Given the description of an element on the screen output the (x, y) to click on. 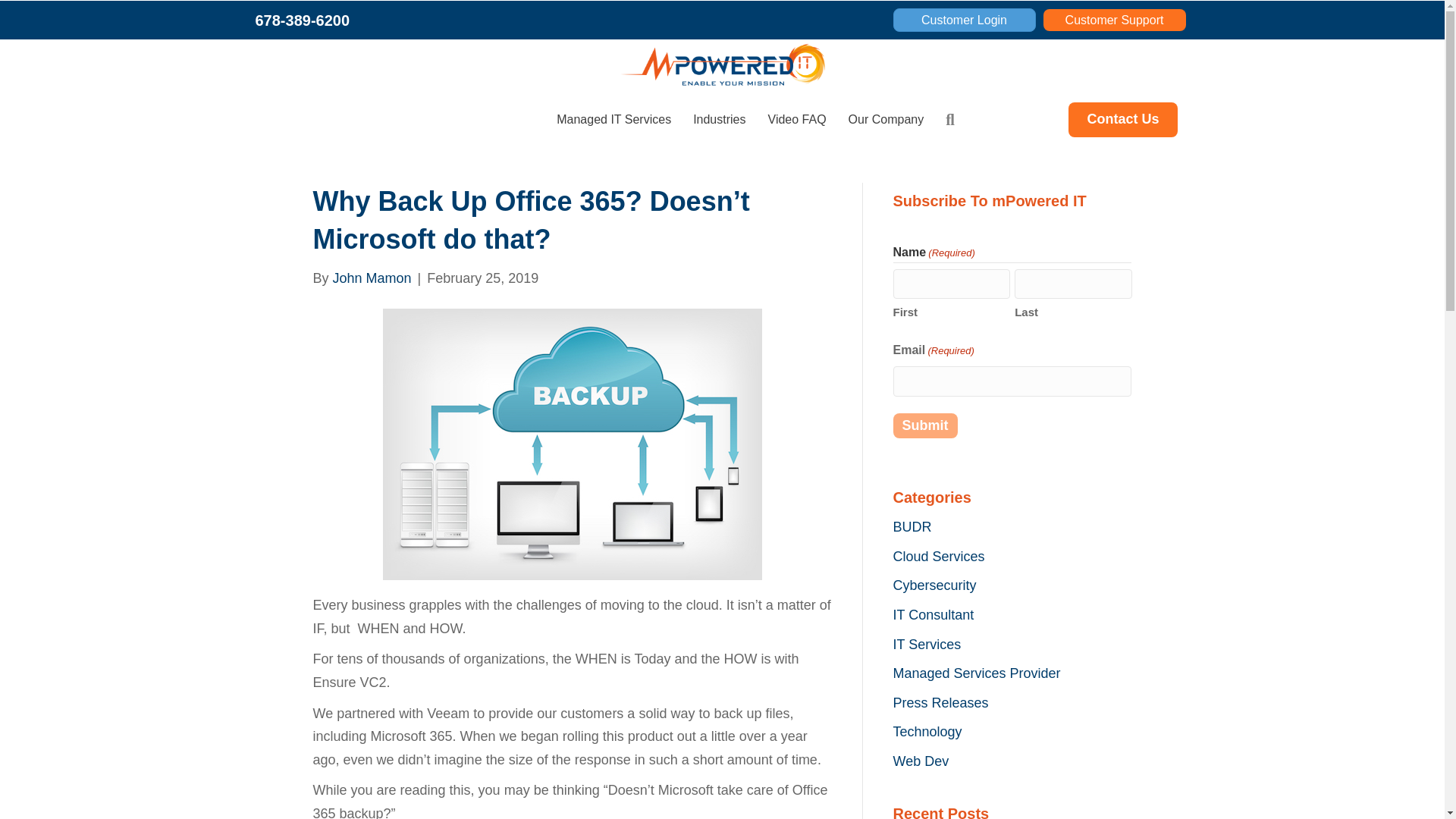
678-389-6200 (301, 20)
Customer Login (964, 19)
Video FAQ (796, 119)
Contact Us (1122, 119)
Managed IT Services (613, 119)
Our Company (886, 119)
Search (952, 119)
mPowered IT Website Header Logo (722, 64)
Customer Support (1114, 20)
Industries (718, 119)
Submit (925, 425)
678-389-6200 (301, 20)
